Given the description of an element on the screen output the (x, y) to click on. 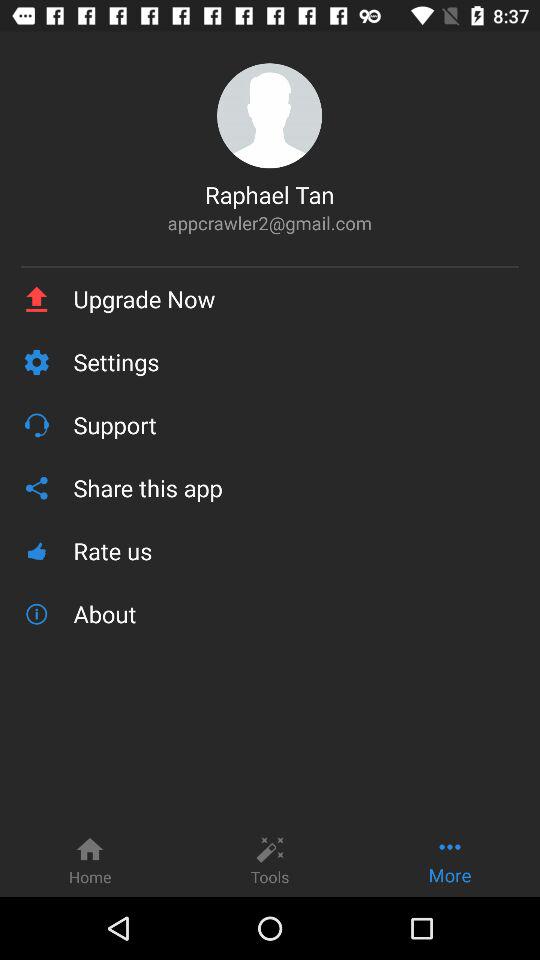
select the icon above about item (296, 550)
